Given the description of an element on the screen output the (x, y) to click on. 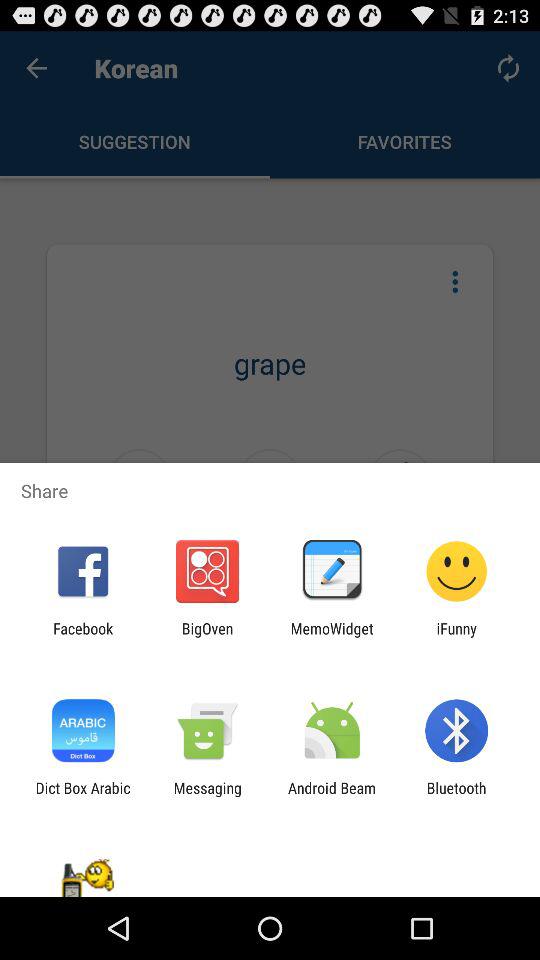
turn off dict box arabic icon (82, 796)
